Given the description of an element on the screen output the (x, y) to click on. 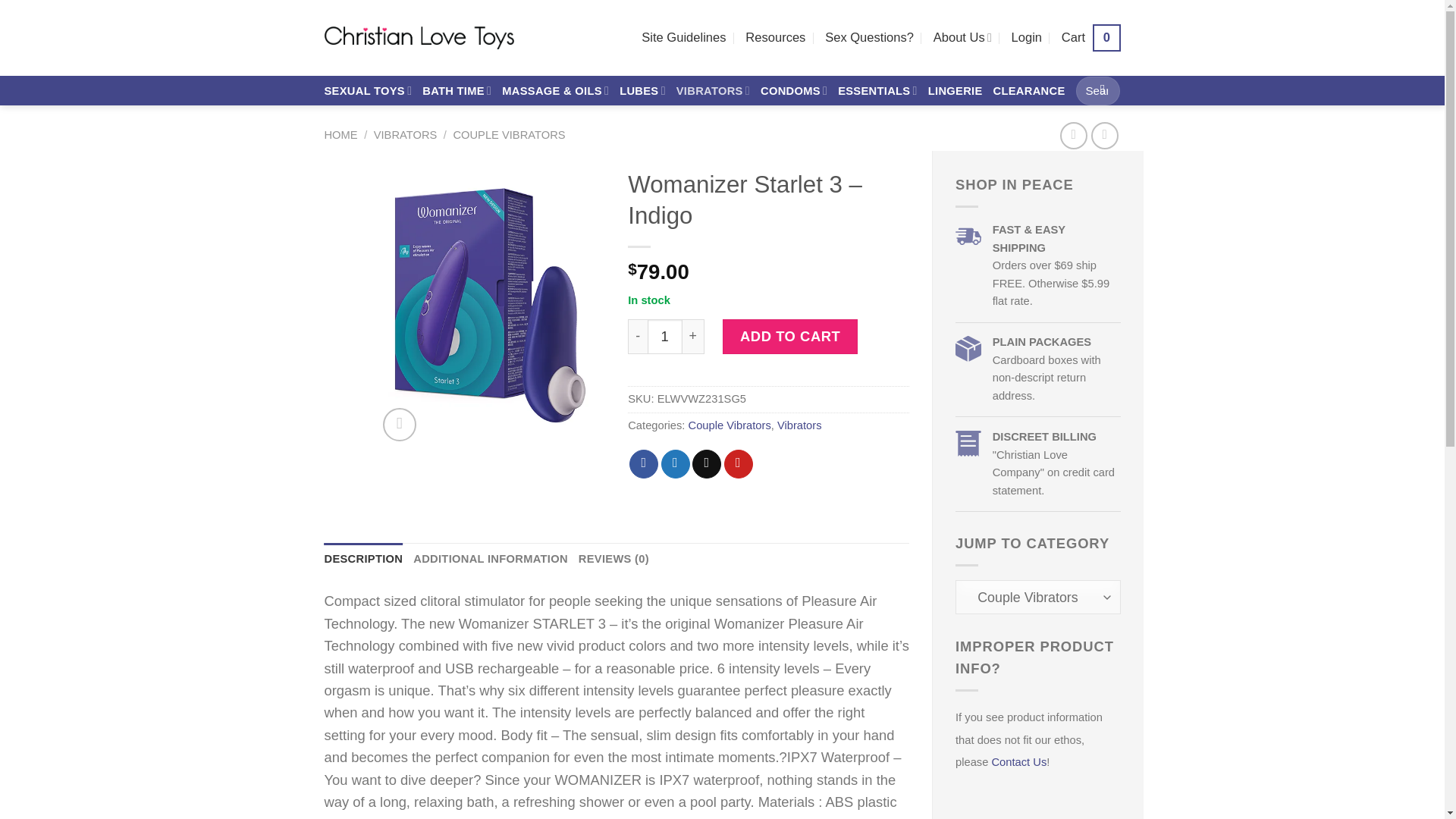
Christian Love Toys (418, 37)
Pin on Pinterest (737, 463)
Share on Facebook (643, 463)
Site Guidelines (683, 37)
1 (664, 336)
Resources (775, 37)
Login (1026, 37)
Share on Twitter (1091, 38)
About Us (675, 463)
Sex Questions? (962, 37)
Zoom (869, 37)
Email to a Friend (399, 424)
SEXUAL TOYS (706, 463)
Cart (368, 90)
